Given the description of an element on the screen output the (x, y) to click on. 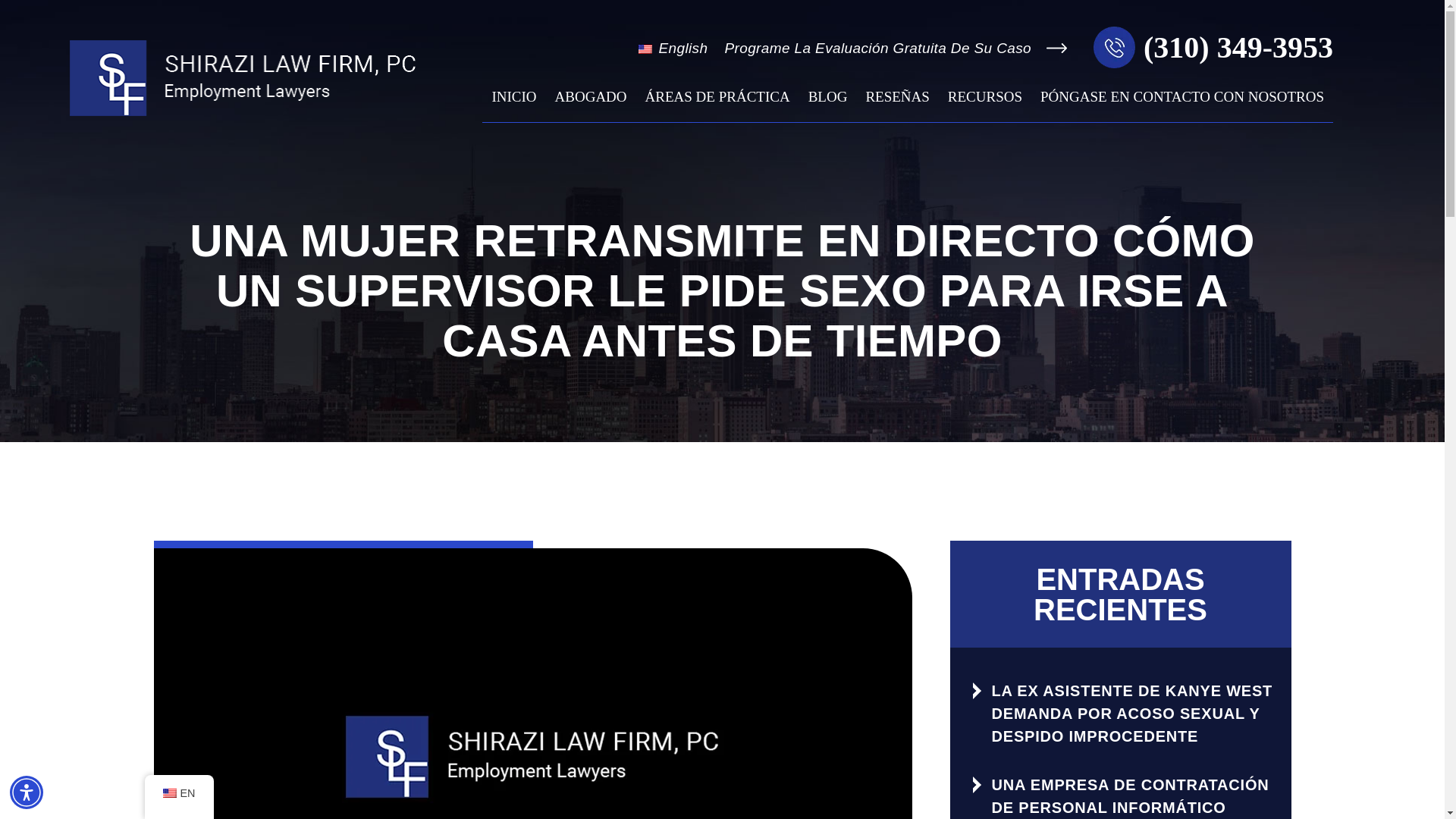
BLOG (828, 105)
ABOGADO (591, 105)
English (680, 48)
English (168, 792)
INICIO (512, 105)
RECURSOS (984, 105)
English (645, 49)
English (680, 48)
